Given the description of an element on the screen output the (x, y) to click on. 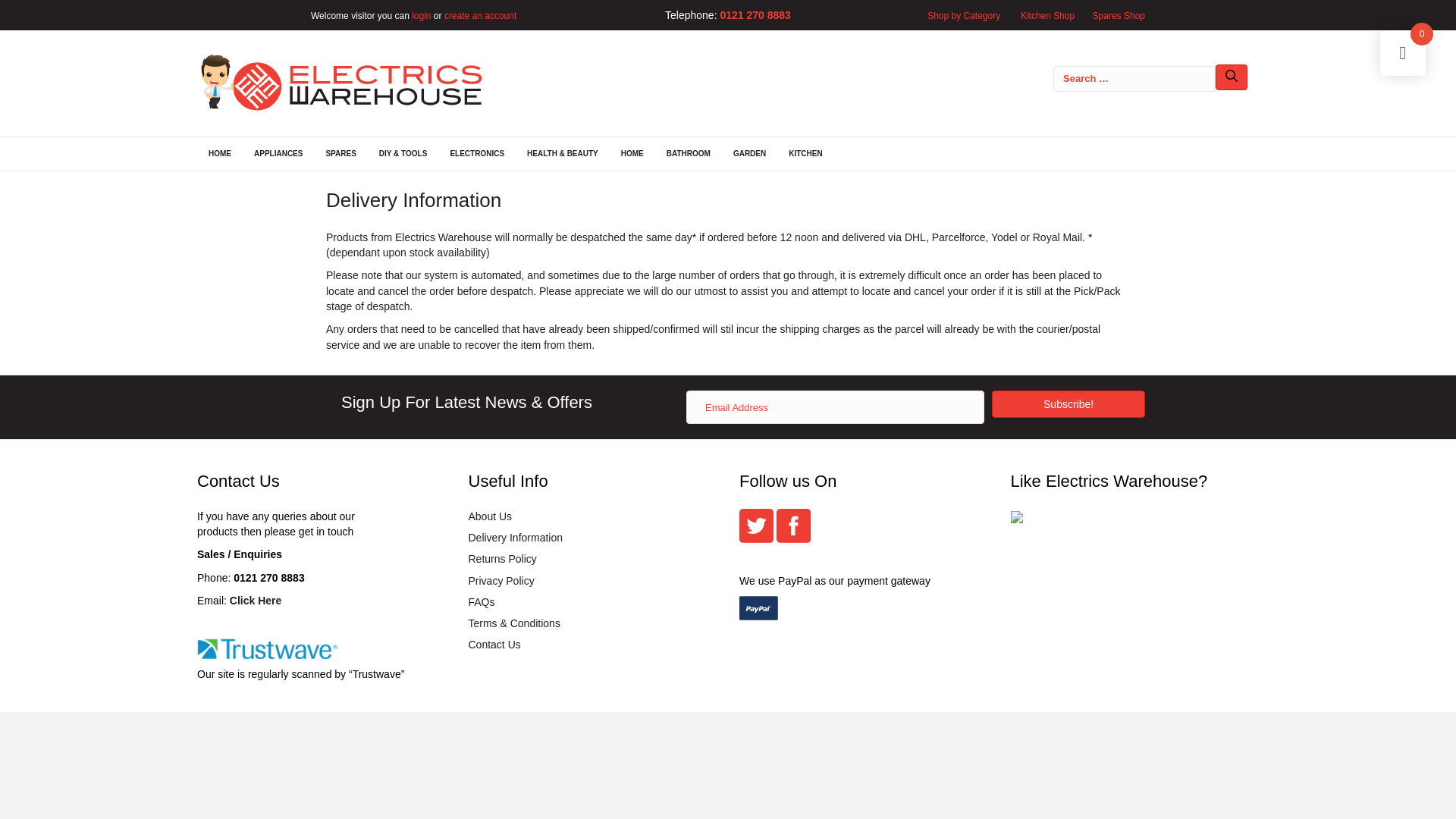
HOME (219, 153)
login (421, 15)
Shop by Category (963, 15)
Search for: (1133, 78)
APPLIANCES (278, 153)
Kitchen Shop (1048, 15)
create an account (480, 15)
Spares Shop (1116, 15)
